Given the description of an element on the screen output the (x, y) to click on. 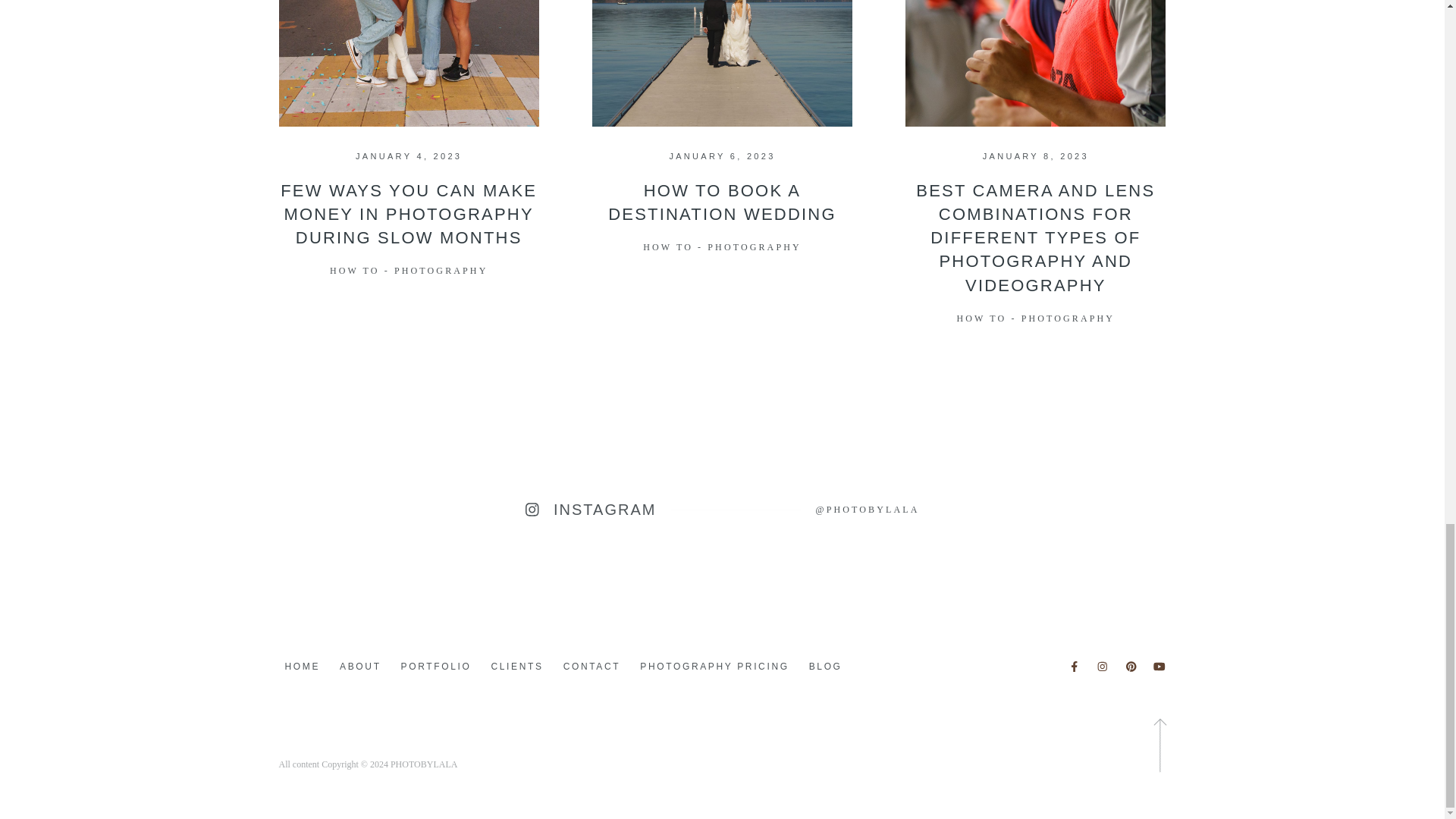
HOW TO - PHOTOGRAPHY (408, 270)
